Given the description of an element on the screen output the (x, y) to click on. 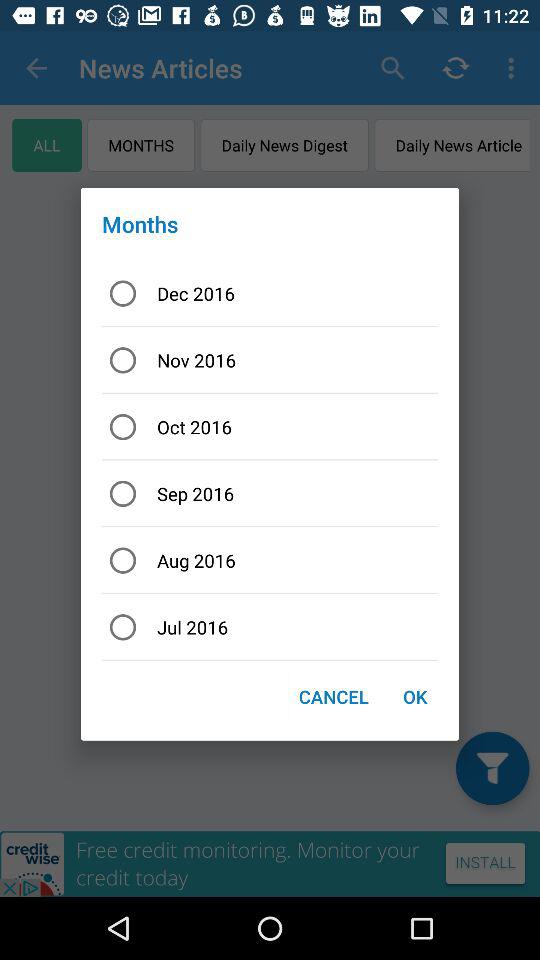
launch dec 2016 icon (269, 293)
